Given the description of an element on the screen output the (x, y) to click on. 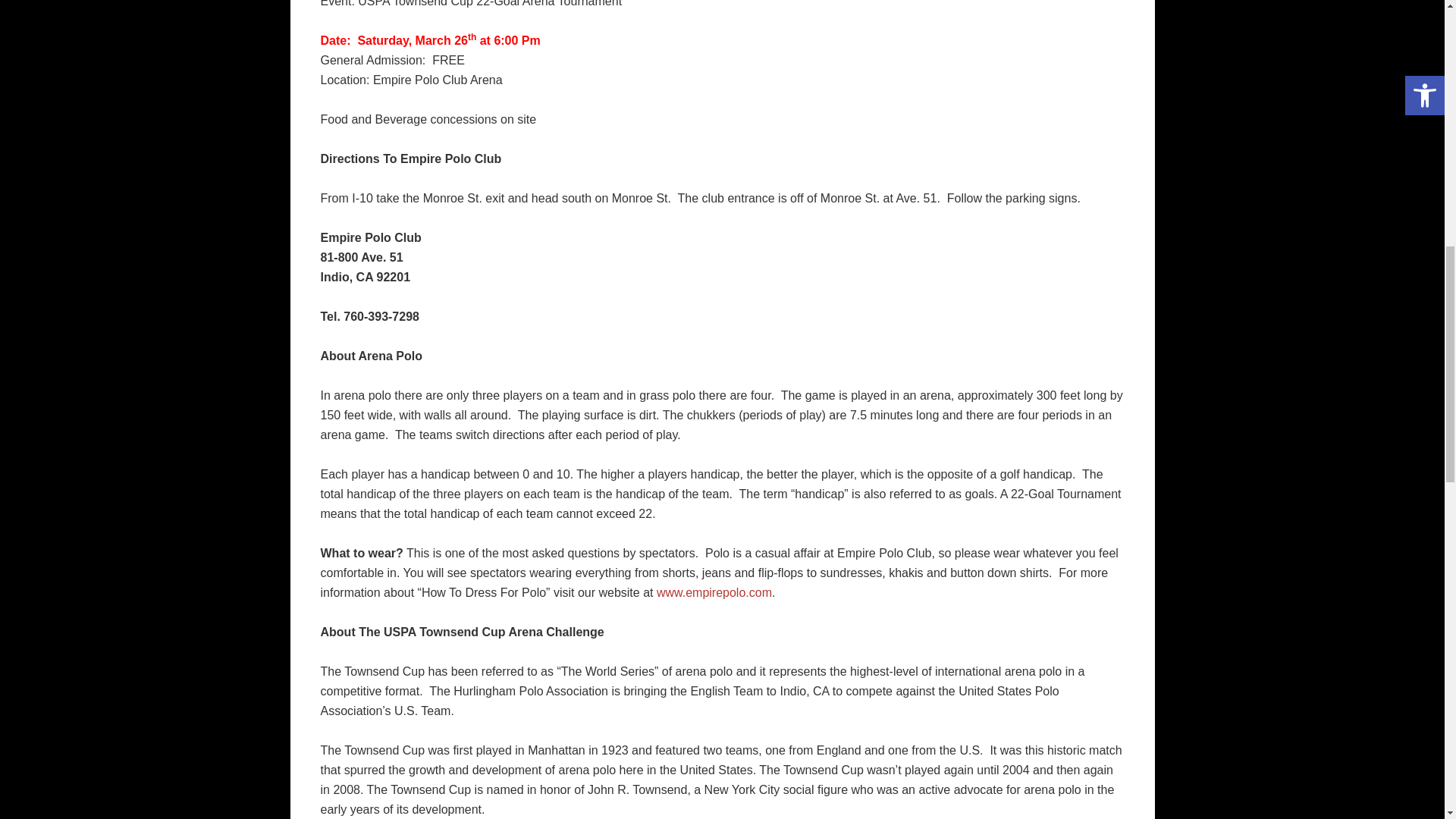
www.empirepolo.com (713, 592)
